Given the description of an element on the screen output the (x, y) to click on. 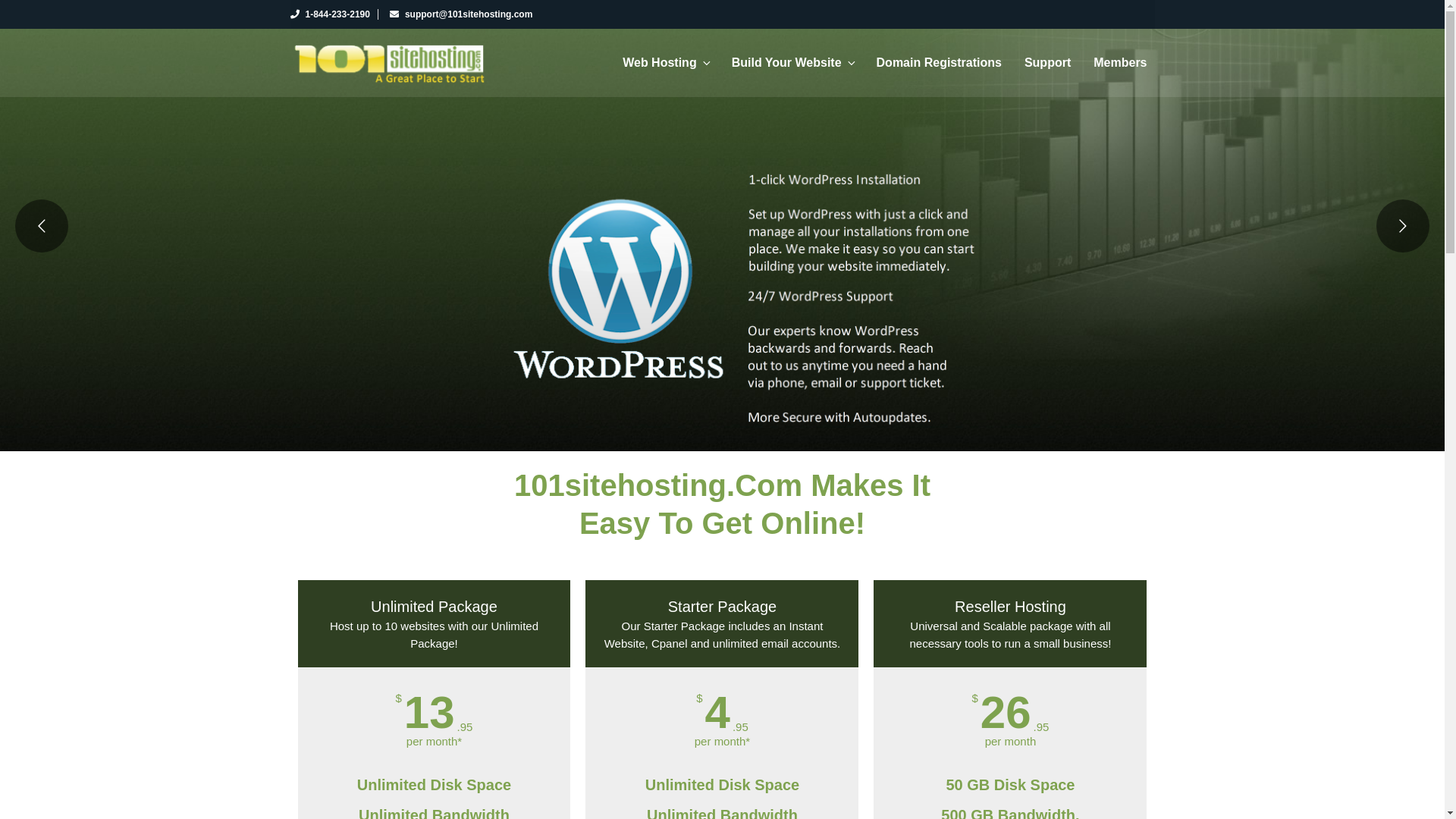
Web Hosting Element type: text (665, 62)
Domain Registrations Element type: text (938, 62)
support@101sitehosting.com Element type: text (460, 14)
Build Your Website Element type: text (792, 62)
Members Element type: text (1119, 62)
1-844-233-2190 Element type: text (329, 14)
Support Element type: text (1047, 62)
